Given the description of an element on the screen output the (x, y) to click on. 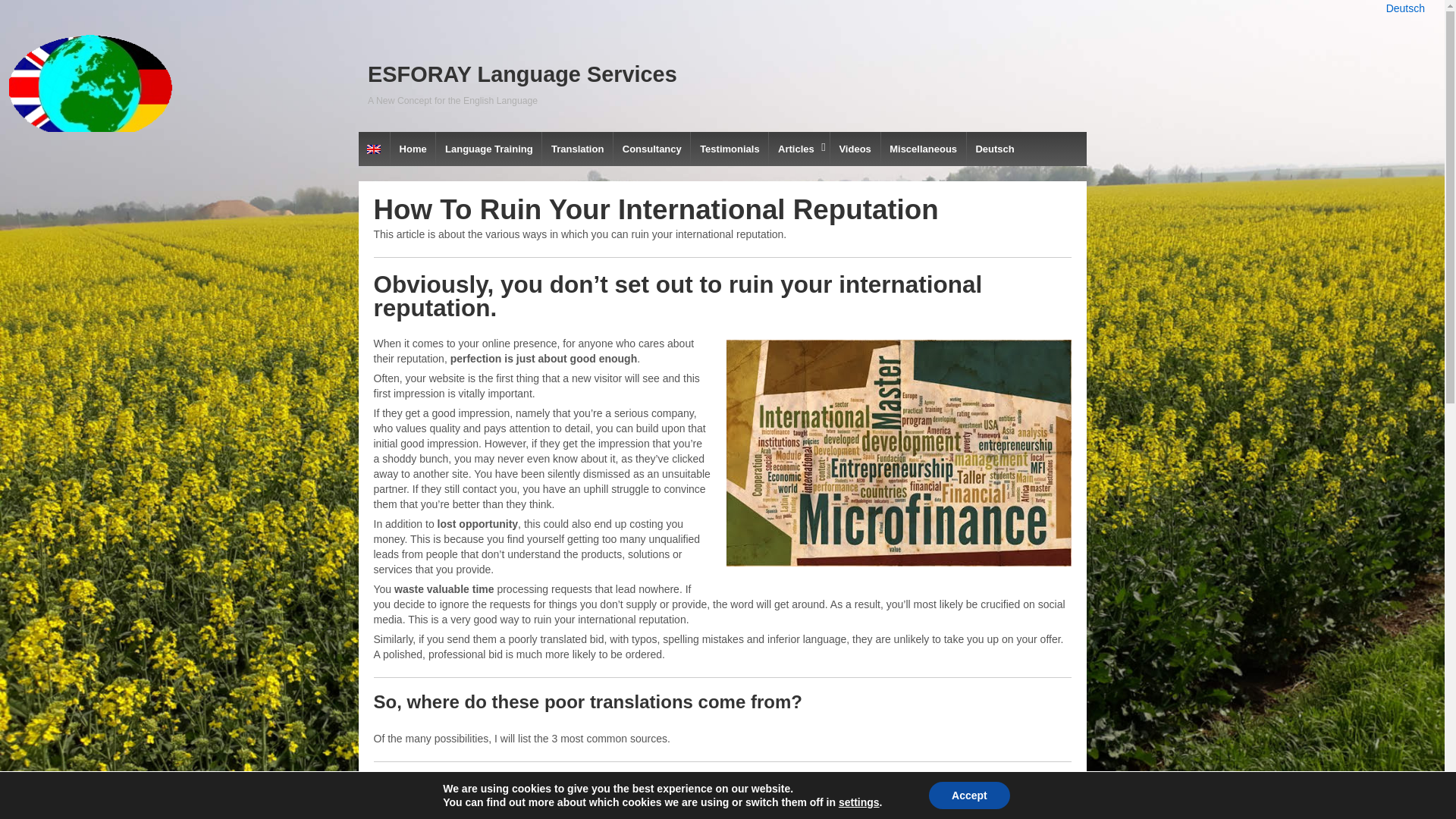
Home (412, 148)
Testimonials (729, 148)
Videos (854, 148)
Deutsch (994, 148)
ESFORAY Language Services (522, 74)
ESFORAY Language Services (522, 74)
Accept (969, 795)
Translation (576, 148)
Miscellaneous (922, 148)
settings (858, 802)
